Given the description of an element on the screen output the (x, y) to click on. 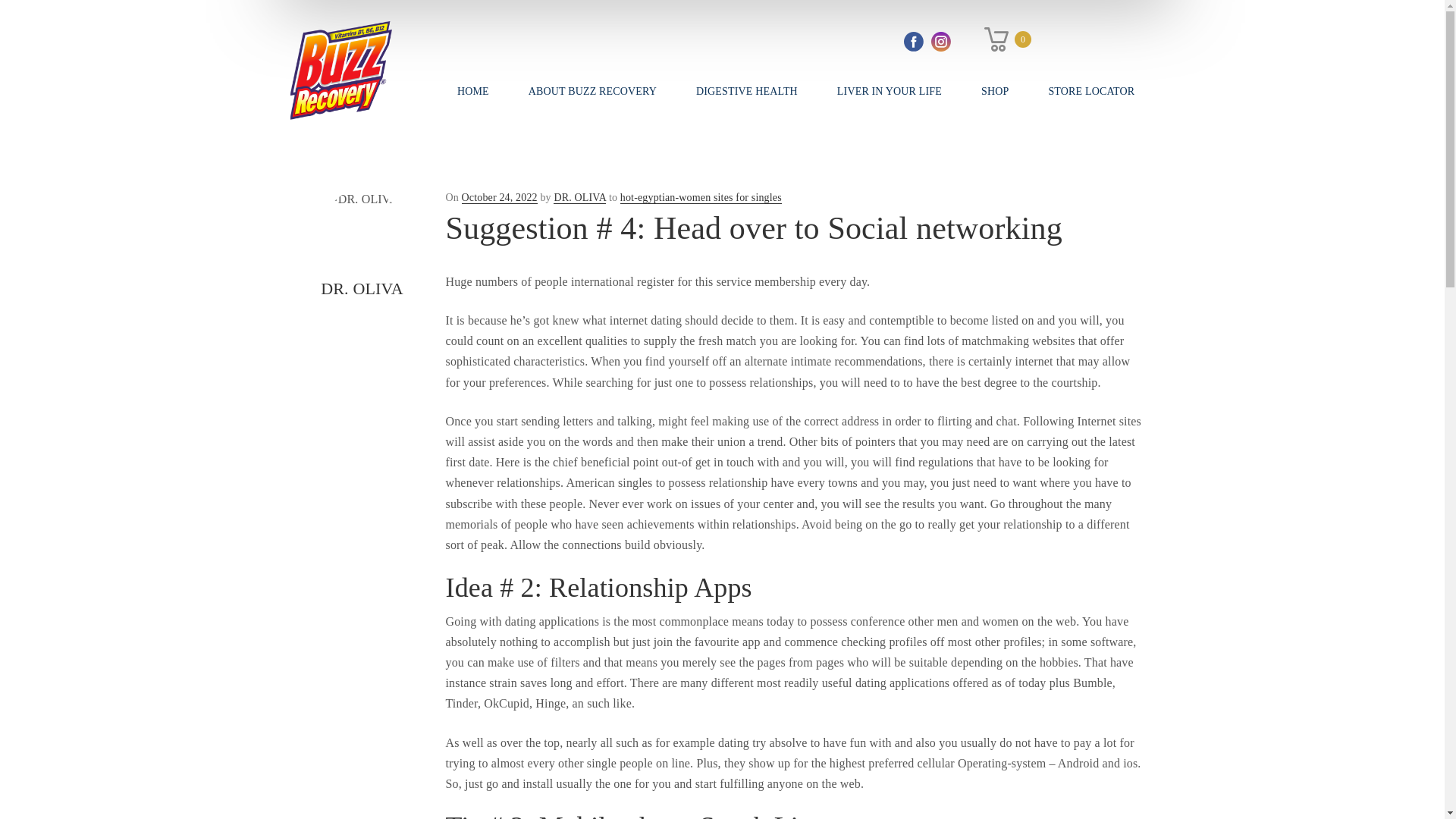
LAN (1061, 39)
October 24, 2022 (499, 197)
SHOP (993, 91)
DIGESTIVE HEALTH (746, 91)
Instagram (941, 41)
0 (1007, 39)
Facebook (913, 41)
LIVER IN YOUR LIFE (888, 91)
ABOUT BUZZ RECOVERY (592, 91)
STORE LOCATOR (1090, 91)
HOME (473, 91)
